Given the description of an element on the screen output the (x, y) to click on. 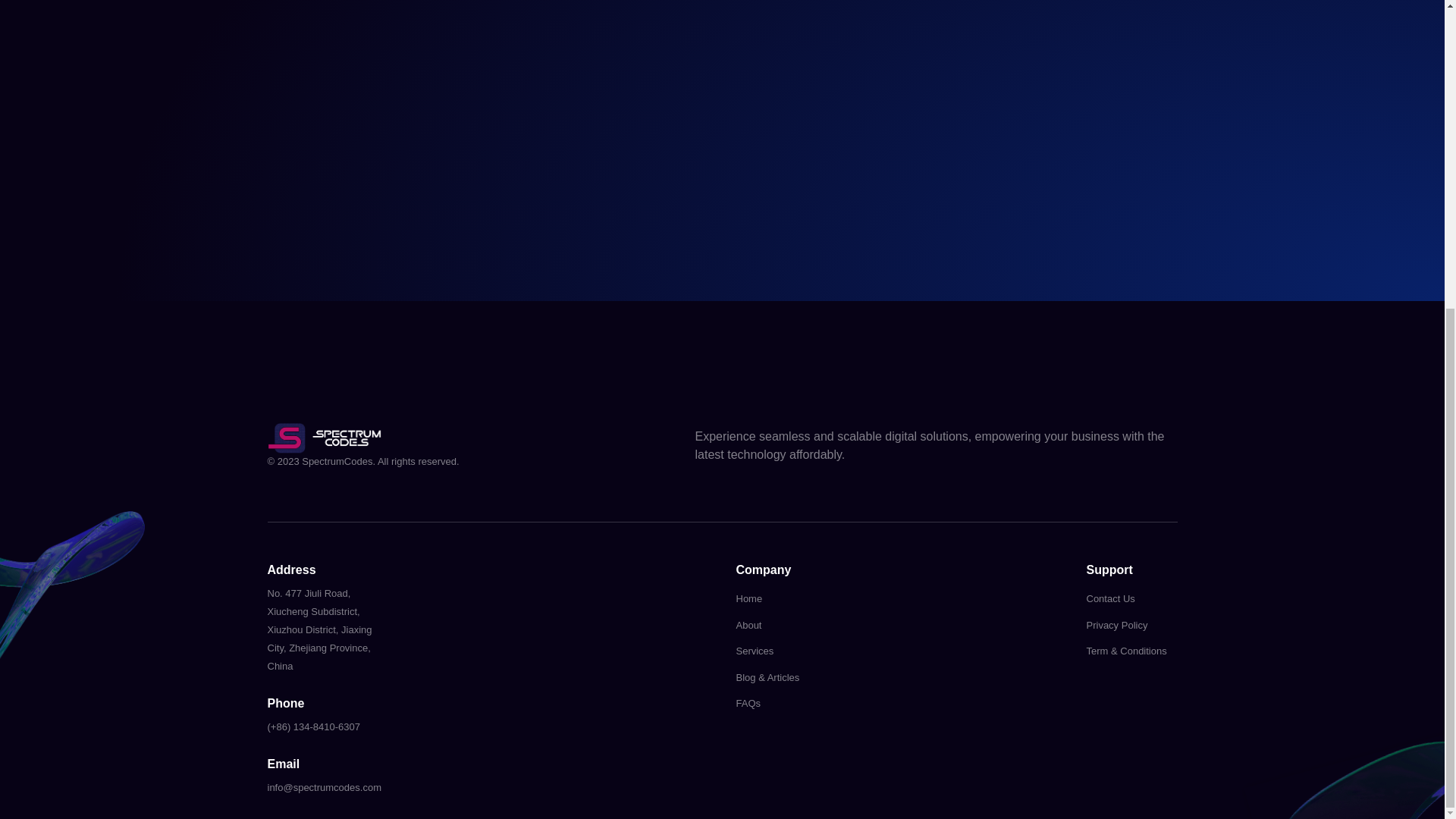
About (803, 625)
Contact Us (1131, 598)
Home (803, 598)
FAQs (803, 703)
Services (803, 651)
Privacy Policy (1131, 625)
